Given the description of an element on the screen output the (x, y) to click on. 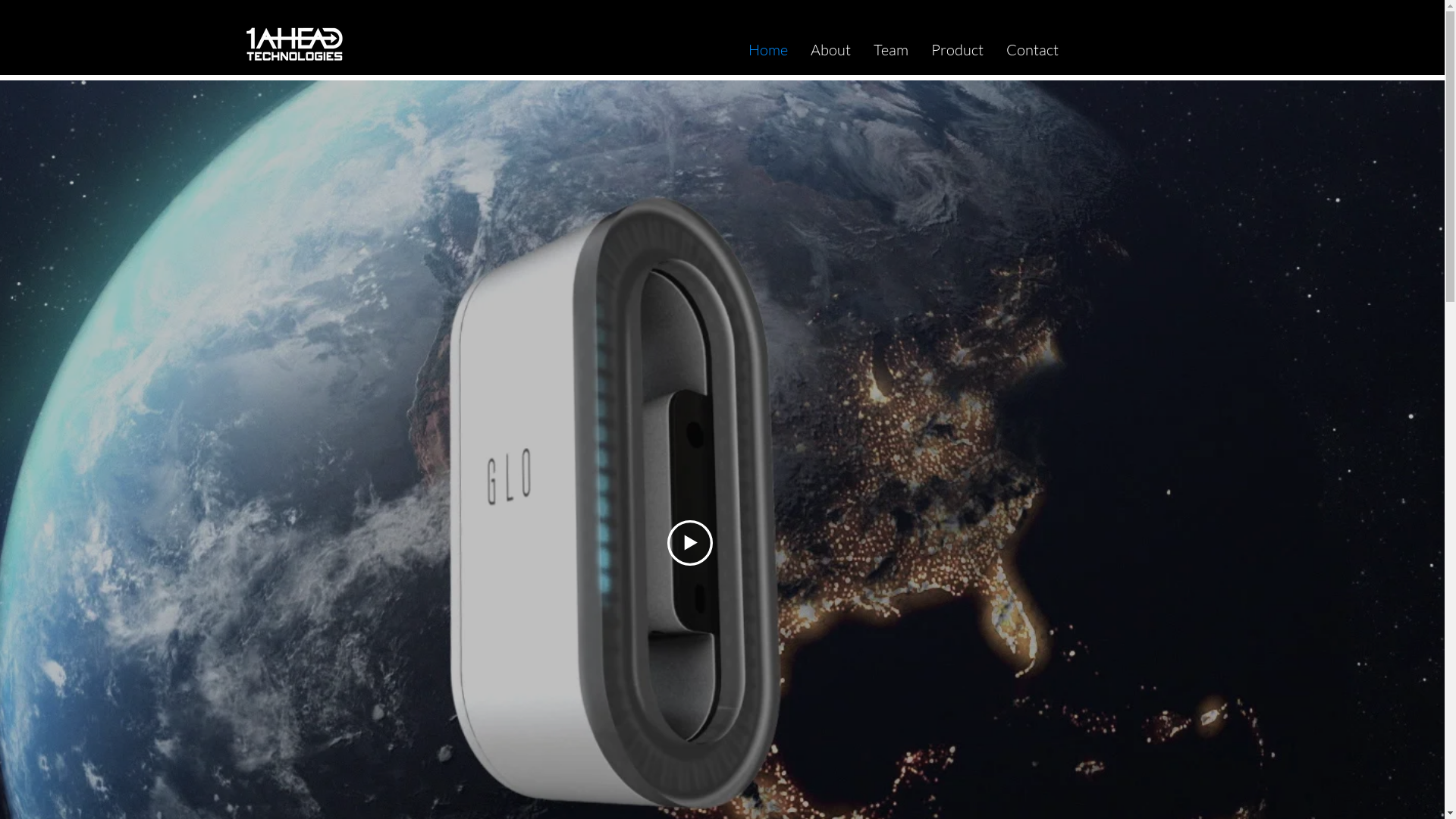
Team Element type: text (890, 50)
Home Element type: text (768, 50)
Contact Element type: text (1032, 50)
Product Element type: text (956, 50)
About Element type: text (830, 50)
